Given the description of an element on the screen output the (x, y) to click on. 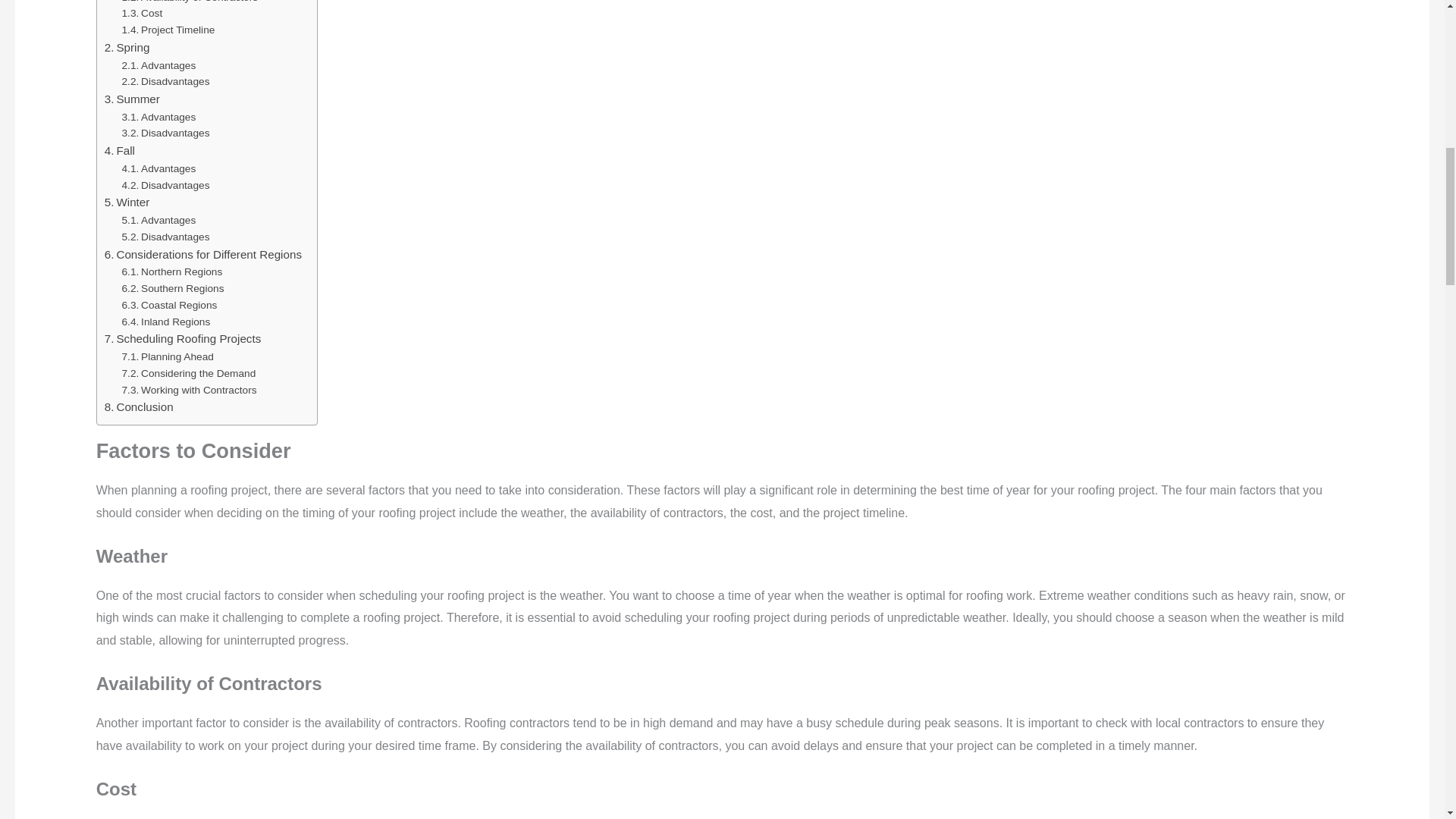
Availability of Contractors (190, 2)
Fall (119, 150)
Summer (132, 99)
Advantages (159, 168)
Winter (126, 202)
Spring (126, 47)
Winter (126, 202)
Advantages (159, 65)
Disadvantages (165, 185)
Disadvantages (165, 81)
